Given the description of an element on the screen output the (x, y) to click on. 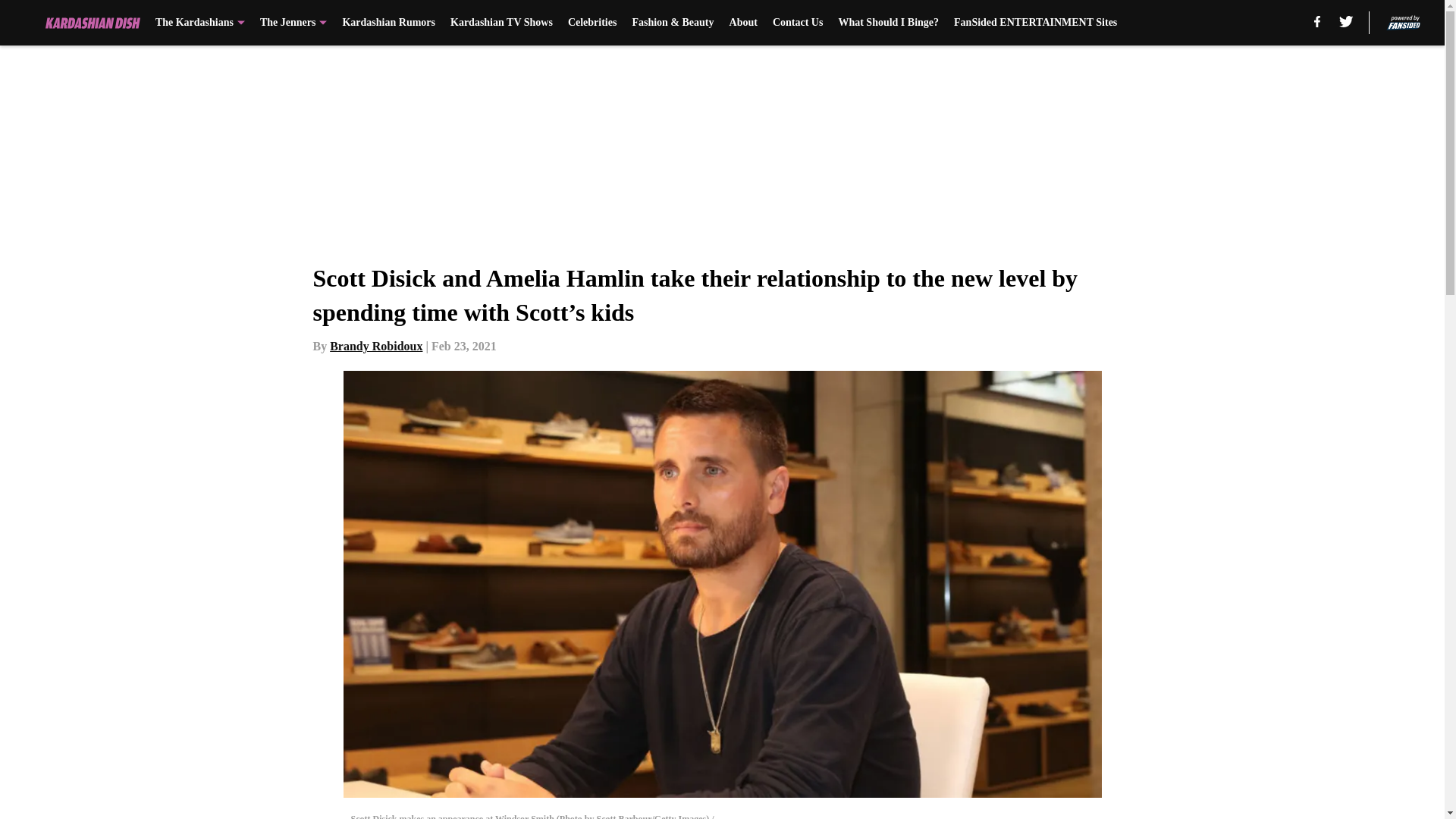
Brandy Robidoux (376, 345)
Kardashian Rumors (388, 22)
FanSided ENTERTAINMENT Sites (1034, 22)
Contact Us (798, 22)
About (743, 22)
What Should I Binge? (888, 22)
Celebrities (592, 22)
Kardashian TV Shows (501, 22)
